Given the description of an element on the screen output the (x, y) to click on. 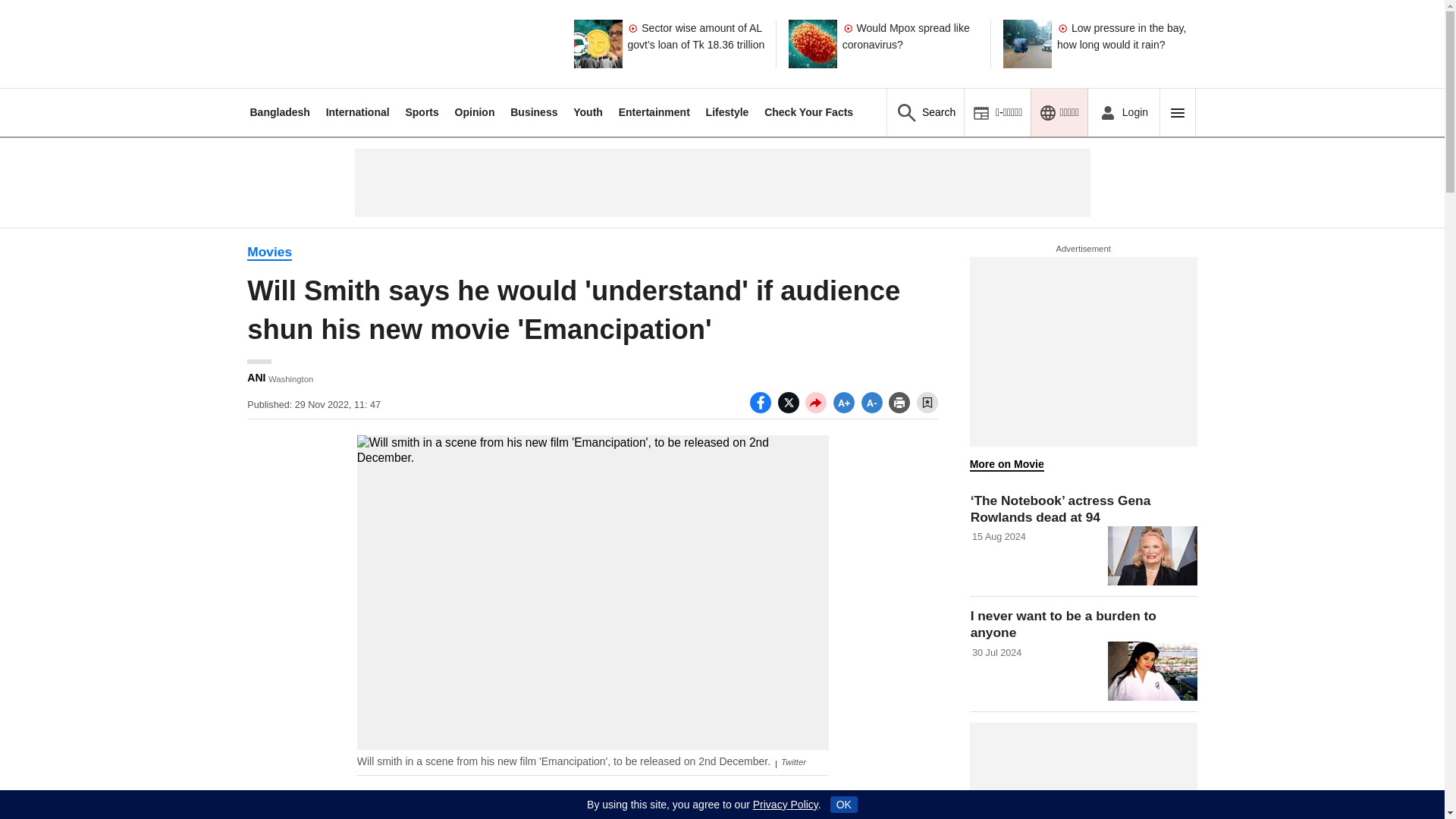
Search (924, 112)
Movies (269, 252)
Bangladesh (278, 111)
Entertainment (654, 111)
Youth (587, 111)
Check Your Facts (808, 111)
Login (1122, 112)
Business (534, 111)
Lifestyle (727, 111)
OK (843, 804)
